Given the description of an element on the screen output the (x, y) to click on. 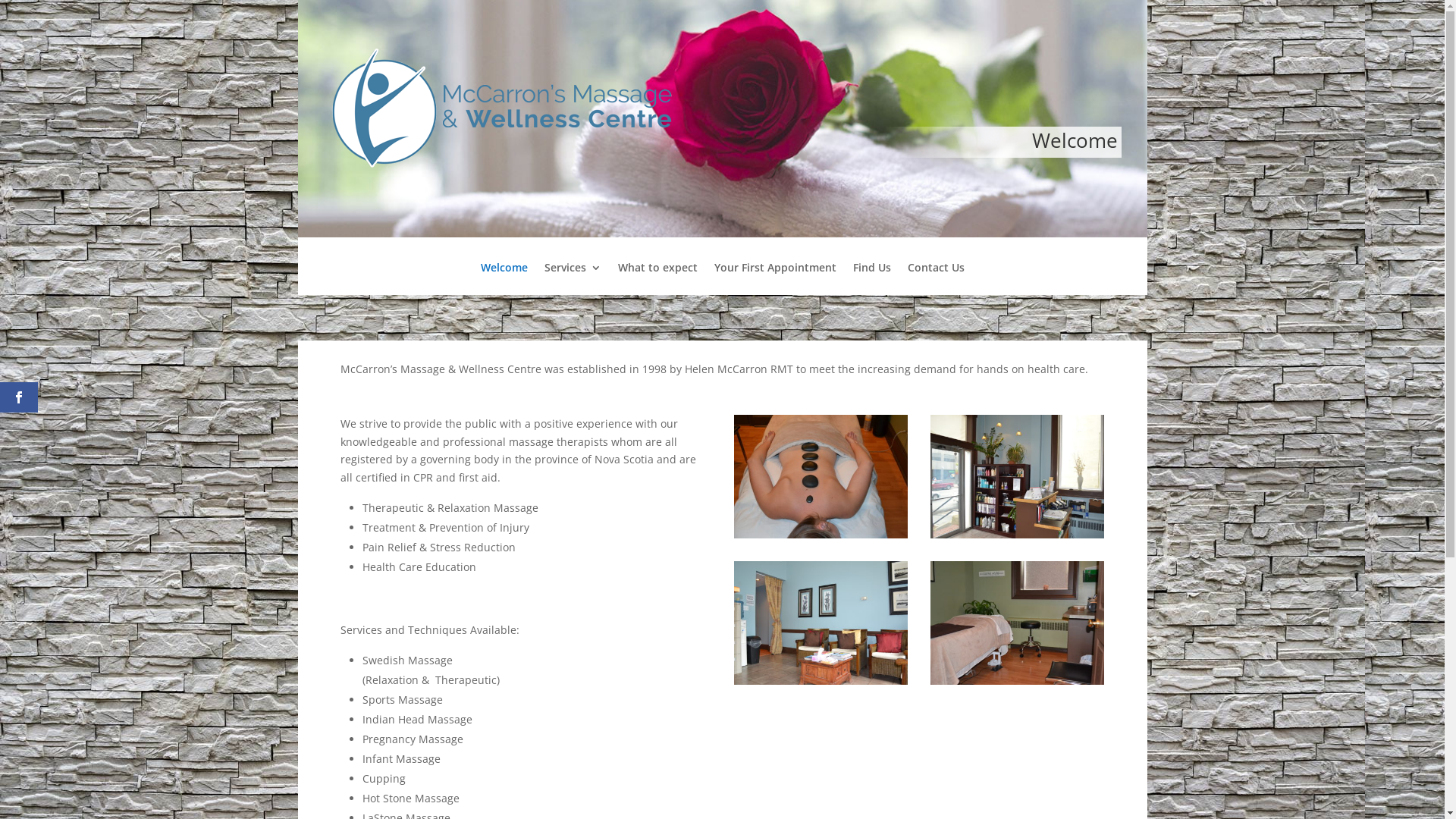
Antigonish Massage - Waiting Room Element type: hover (1017, 534)
Contact Us Element type: text (934, 278)
Antigonish Massage - Hot Stones Element type: hover (820, 534)
McCarron's Massage & Wellness Centre Element type: hover (512, 109)
Antigonish Massage - Waiting Room Element type: hover (820, 680)
Welcome Element type: text (503, 278)
Services Element type: text (572, 278)
What to expect Element type: text (656, 278)
Antigonish Massage - Treatment Room Element type: hover (1017, 680)
Your First Appointment Element type: text (775, 278)
Find Us Element type: text (871, 278)
